Given the description of an element on the screen output the (x, y) to click on. 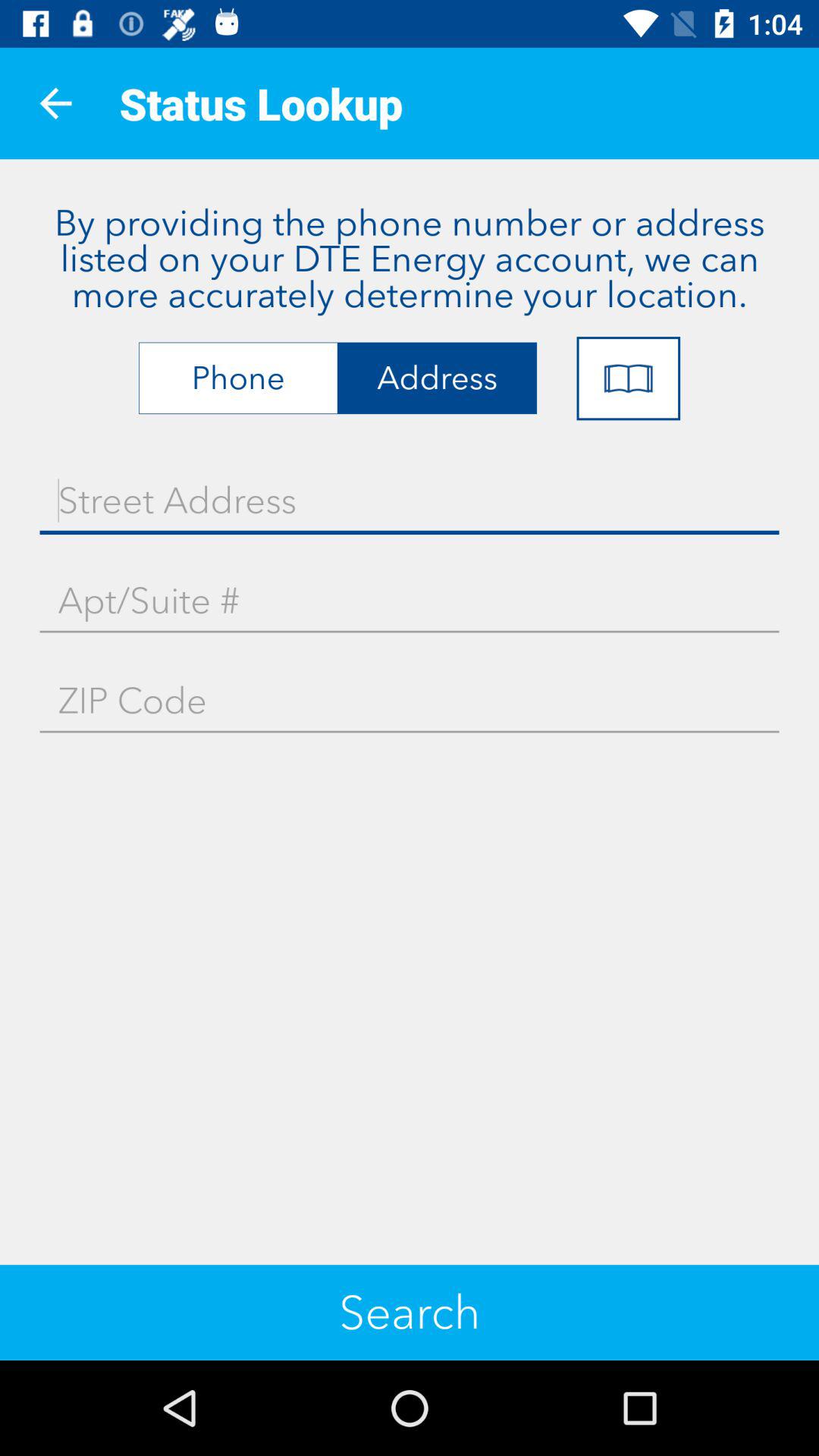
open the icon below the by providing the icon (628, 378)
